Given the description of an element on the screen output the (x, y) to click on. 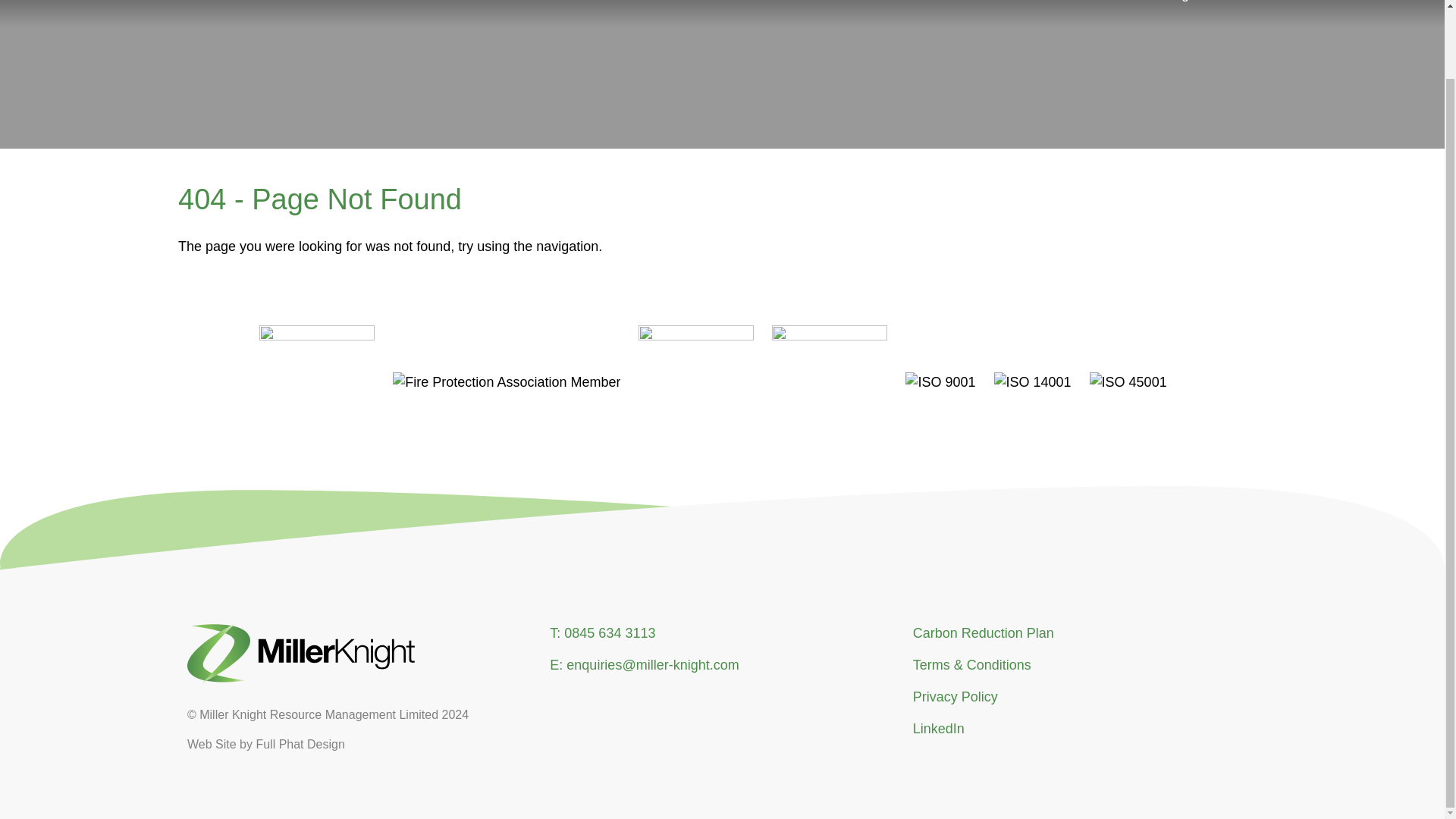
Fire Protection (1013, 6)
Refurbishment (701, 6)
Remedial Fire Protection (853, 6)
Facilities Management (1167, 6)
